Given the description of an element on the screen output the (x, y) to click on. 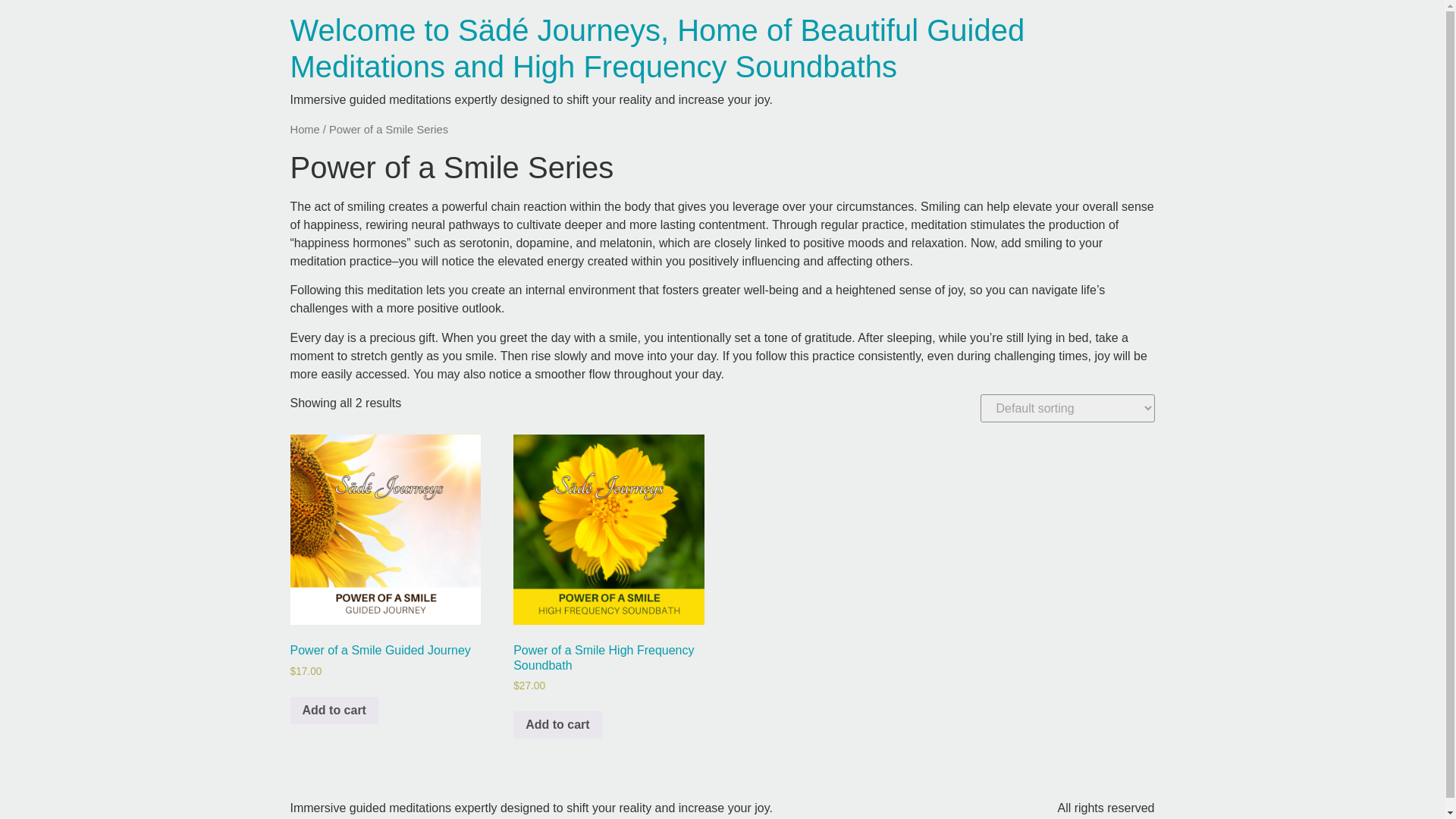
Add to cart (333, 709)
Power of a Smile Guided Journey (384, 529)
Home (657, 48)
Add to cart (557, 724)
Power of a Smile High Frequency Soundbath (608, 529)
Home (303, 129)
